Given the description of an element on the screen output the (x, y) to click on. 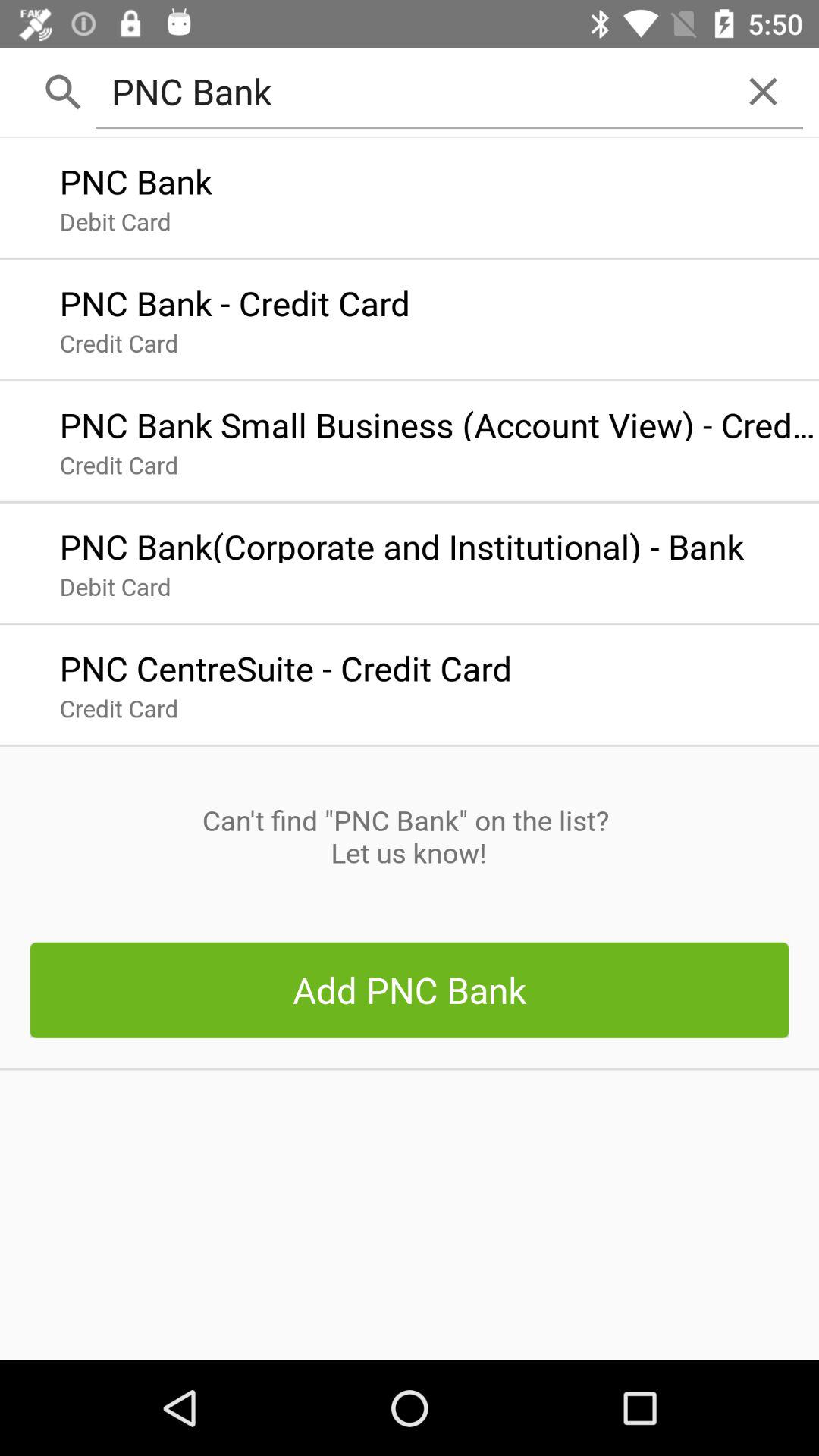
select app above credit card app (285, 664)
